Given the description of an element on the screen output the (x, y) to click on. 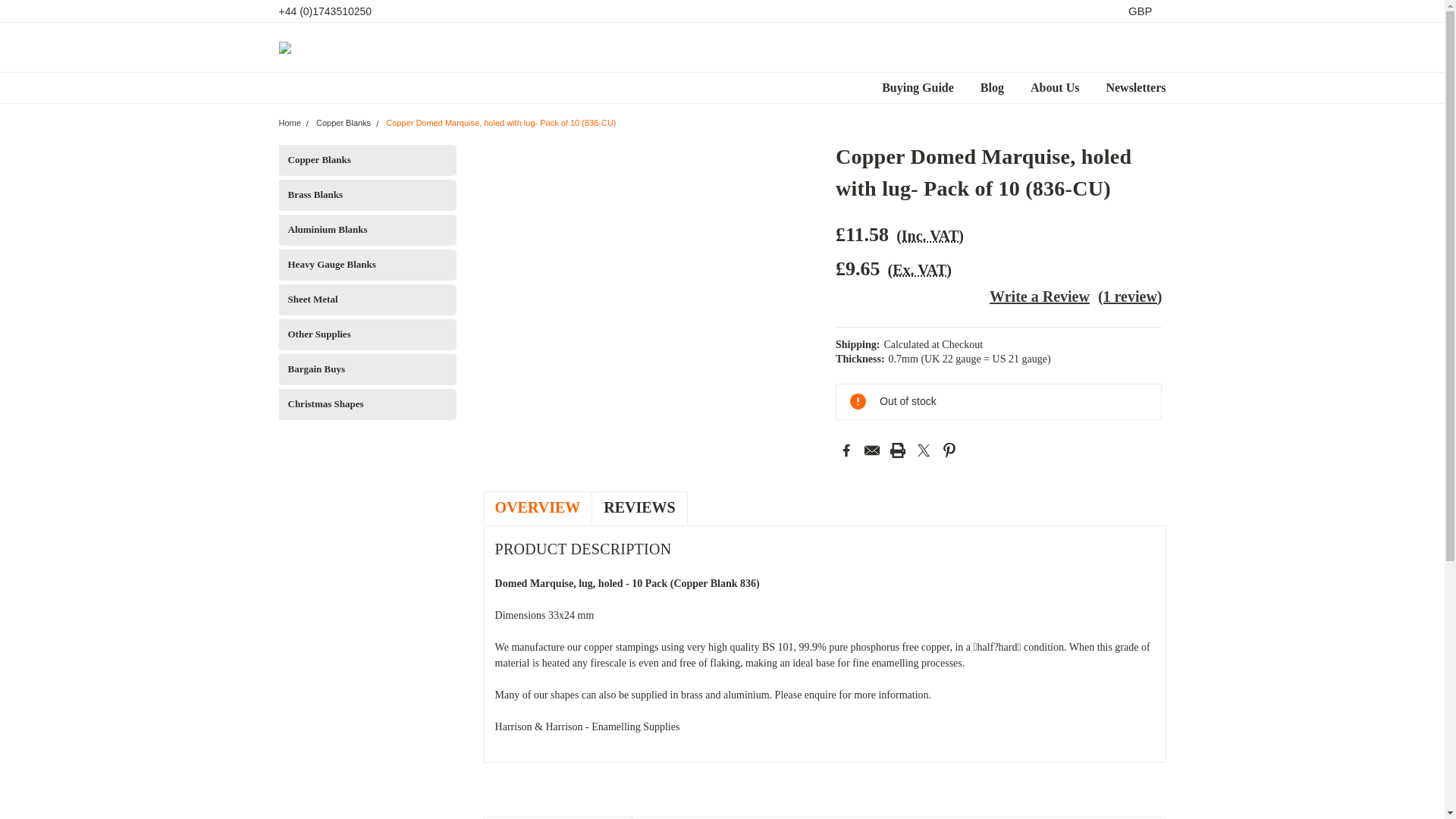
Including Tax (929, 235)
Twitter (923, 450)
Excluding Tax (920, 269)
Pinterest (949, 450)
Print (897, 450)
Facebook (845, 450)
GBP (1143, 11)
Email (871, 450)
